Given the description of an element on the screen output the (x, y) to click on. 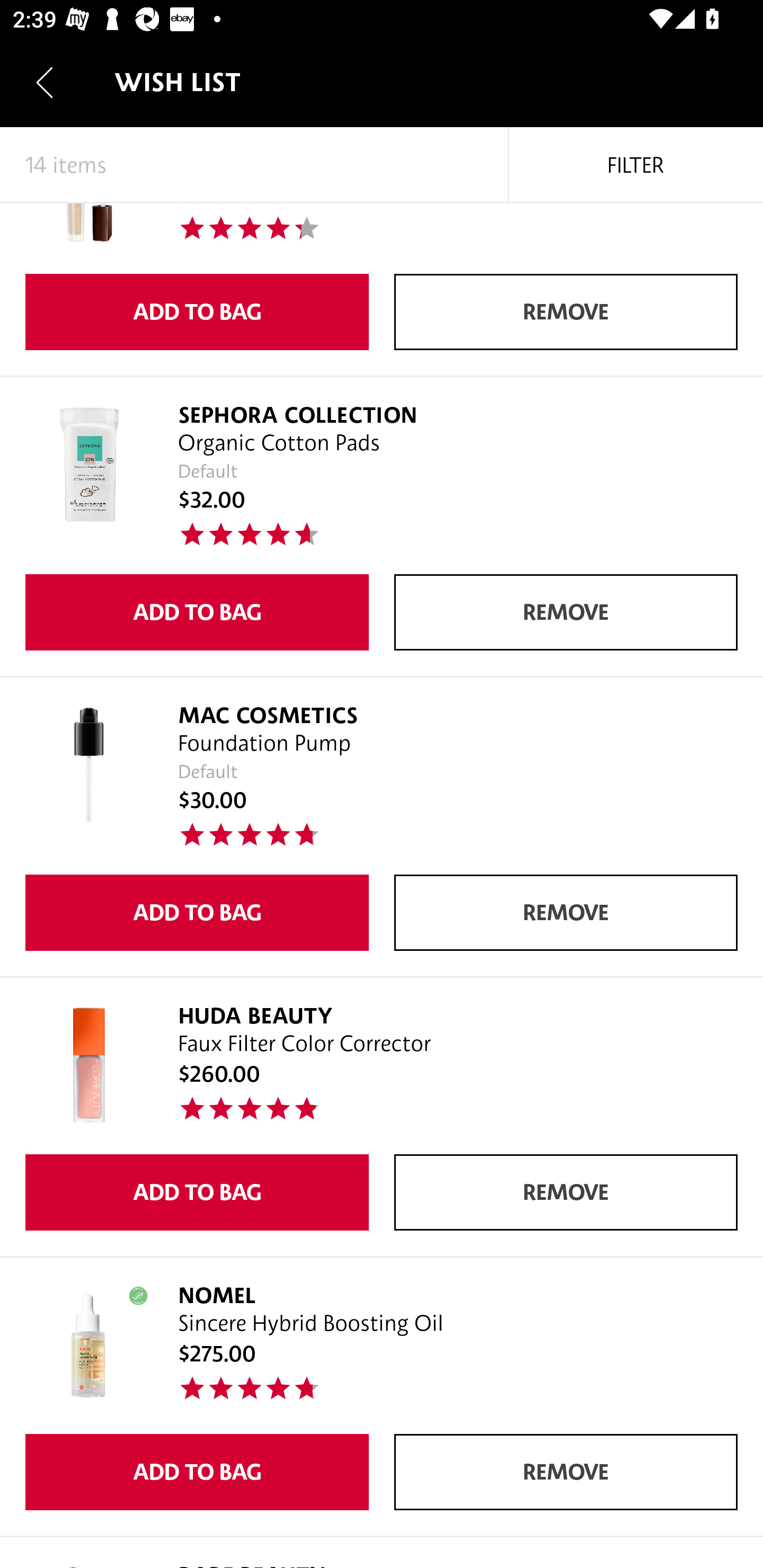
Navigate up (44, 82)
FILTER (635, 165)
$320.00 43.0 ADD TO BAG REMOVE (381, 289)
ADD TO BAG (196, 311)
REMOVE (565, 311)
ADD TO BAG (196, 611)
REMOVE (565, 611)
ADD TO BAG (196, 912)
REMOVE (565, 912)
ADD TO BAG (196, 1192)
REMOVE (565, 1192)
ADD TO BAG (196, 1471)
